Given the description of an element on the screen output the (x, y) to click on. 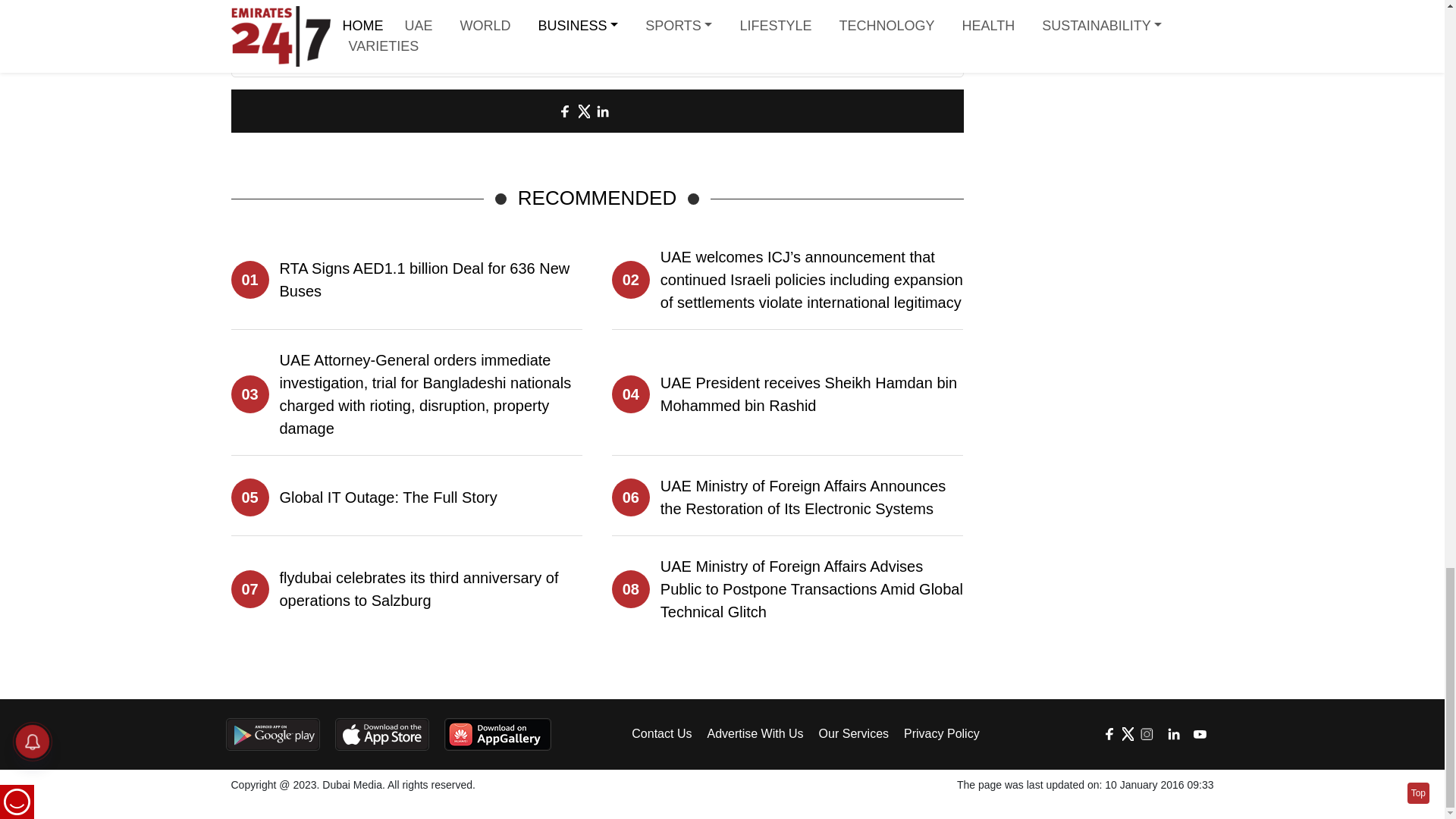
Google News. (703, 31)
